Given the description of an element on the screen output the (x, y) to click on. 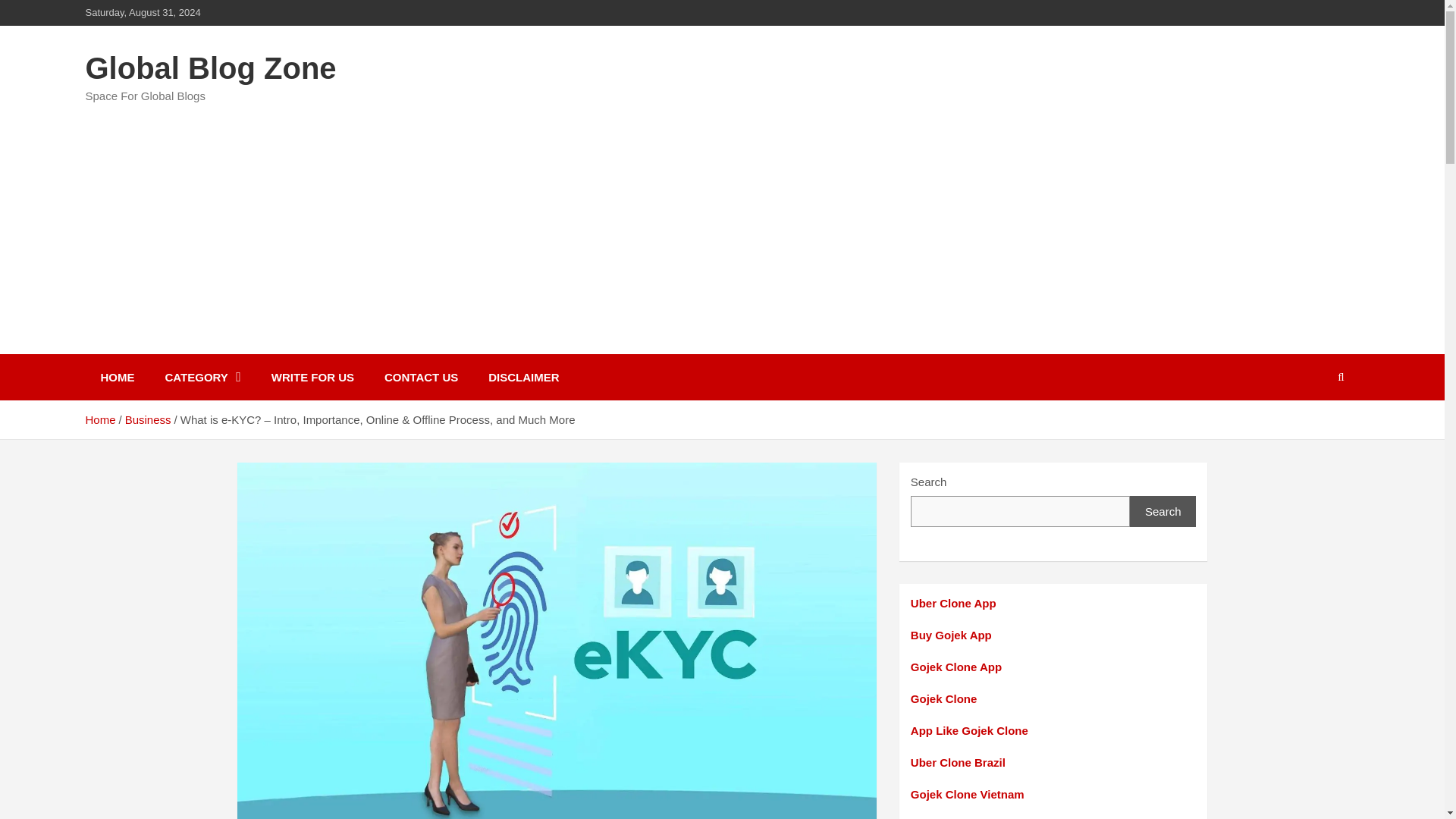
Global Blog Zone (210, 68)
CATEGORY (202, 376)
Home (99, 419)
WRITE FOR US (312, 376)
HOME (116, 376)
CONTACT US (421, 376)
DISCLAIMER (523, 376)
Business (148, 419)
